Given the description of an element on the screen output the (x, y) to click on. 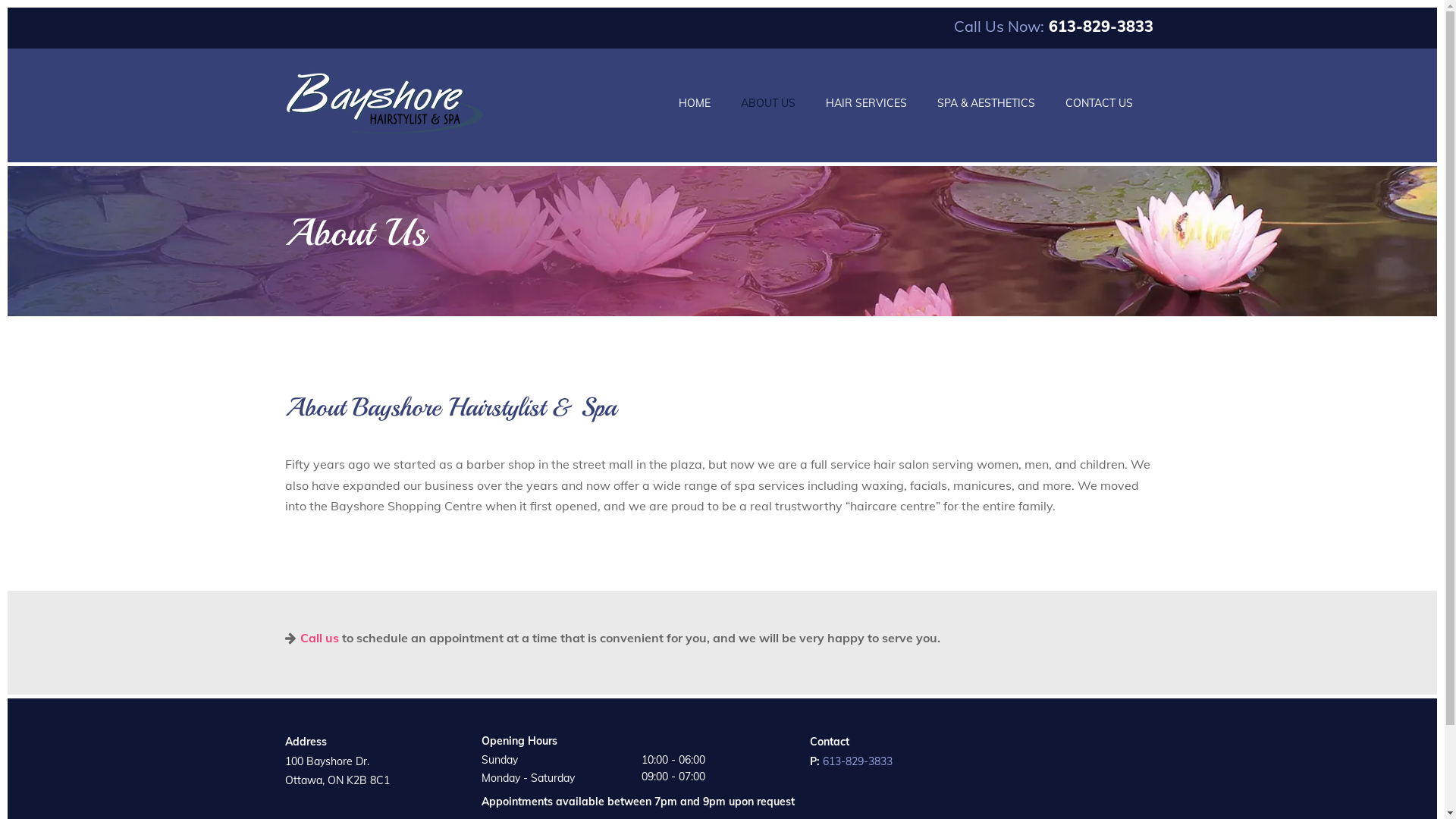
ABOUT US Element type: text (767, 103)
SPA & AESTHETICS Element type: text (986, 103)
HOME Element type: text (694, 103)
Embedded Content Element type: hover (1114, 745)
HAIR SERVICES Element type: text (866, 103)
CONTACT US Element type: text (1099, 103)
Embedded Content Element type: hover (1110, 771)
     Call us Element type: text (311, 637)
613-829-3833 Element type: text (856, 761)
613-829-3833 Element type: text (1097, 25)
